Given the description of an element on the screen output the (x, y) to click on. 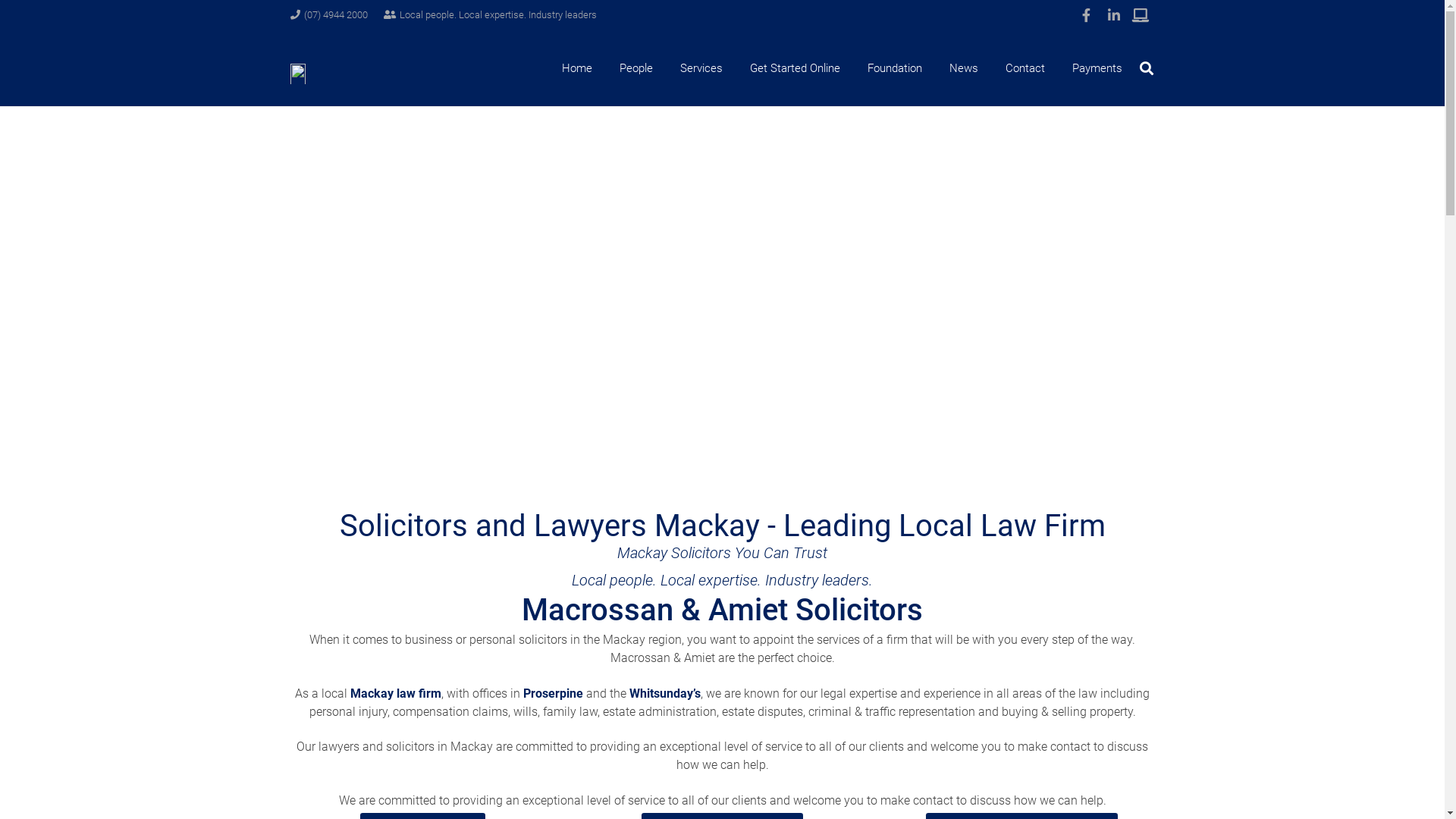
Foundation Element type: text (894, 68)
Mackay law firm Element type: text (395, 692)
LinkedIn Element type: hover (1112, 14)
Get Started Online Element type: text (794, 68)
News Element type: text (963, 68)
Proserpine Element type: text (553, 692)
Payments Element type: text (1096, 68)
Contact Element type: text (1024, 68)
Learn More Element type: hover (1140, 14)
Services Element type: text (701, 68)
Facebook Element type: hover (1085, 14)
People Element type: text (635, 68)
Macrossan & Amiet Solicitors Element type: text (721, 609)
Home Element type: text (576, 68)
